Given the description of an element on the screen output the (x, y) to click on. 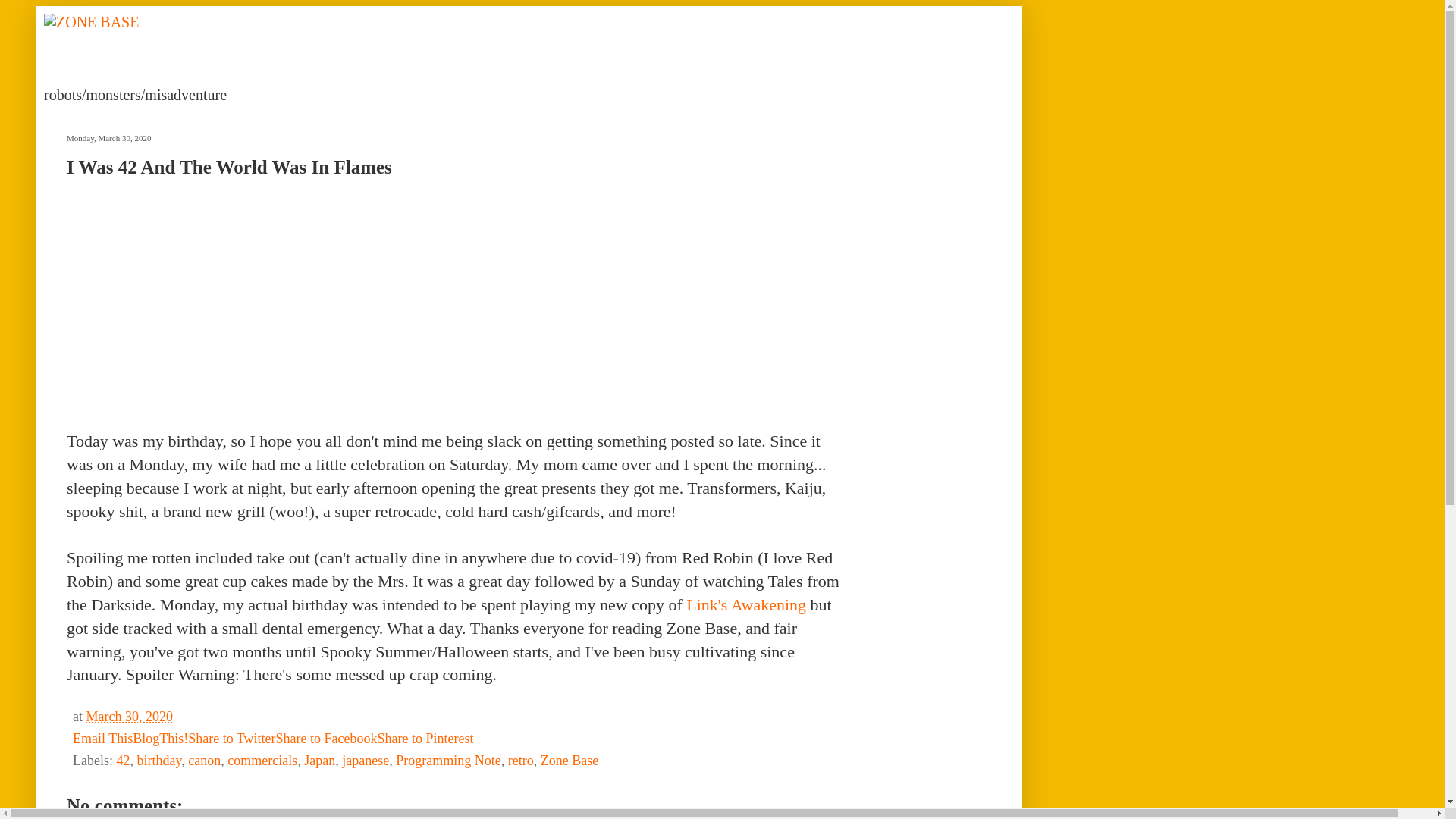
japanese (365, 760)
Zone Base (569, 760)
Share to Facebook (326, 738)
birthday (158, 760)
retro (521, 760)
Email This (102, 738)
Share to Facebook (326, 738)
Share to Twitter (231, 738)
canon (204, 760)
March 30, 2020 (129, 716)
